Given the description of an element on the screen output the (x, y) to click on. 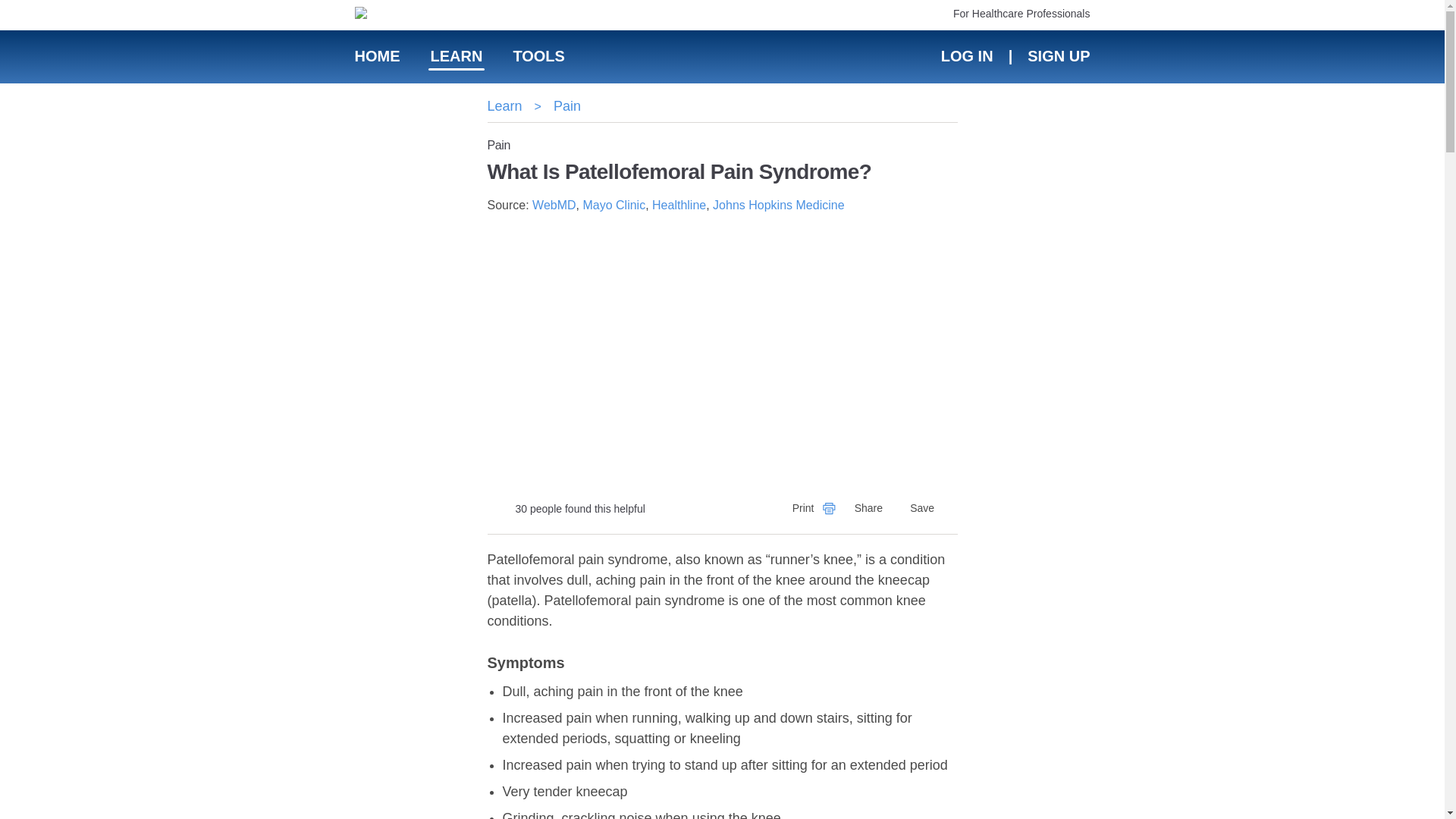
LOG IN (966, 55)
Johns Hopkins Medicine (778, 205)
LEARN (456, 55)
WebMD (554, 205)
Pain (566, 105)
For Healthcare Professionals (1021, 13)
Mayo Clinic (613, 205)
SIGN UP (1056, 55)
Learn (503, 105)
Healthline (679, 205)
HOME (377, 55)
TOOLS (538, 55)
